Given the description of an element on the screen output the (x, y) to click on. 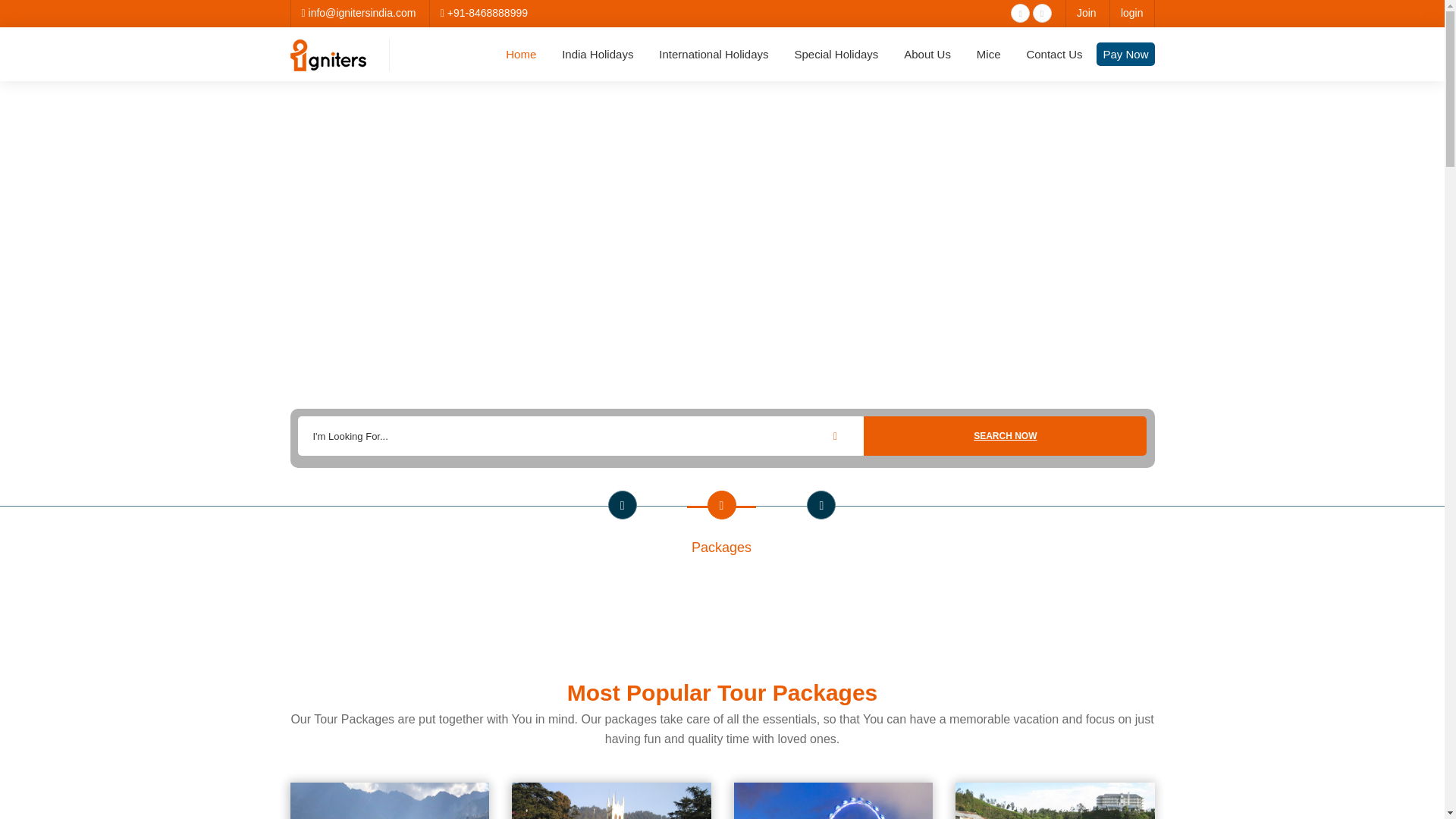
Join (1086, 12)
About Us (927, 54)
International Holidays (712, 54)
Home (521, 54)
India Holidays (597, 54)
Mice (988, 54)
login (1131, 12)
Pay Now (1125, 54)
Contact Us (1053, 54)
Special Holidays (836, 54)
